Given the description of an element on the screen output the (x, y) to click on. 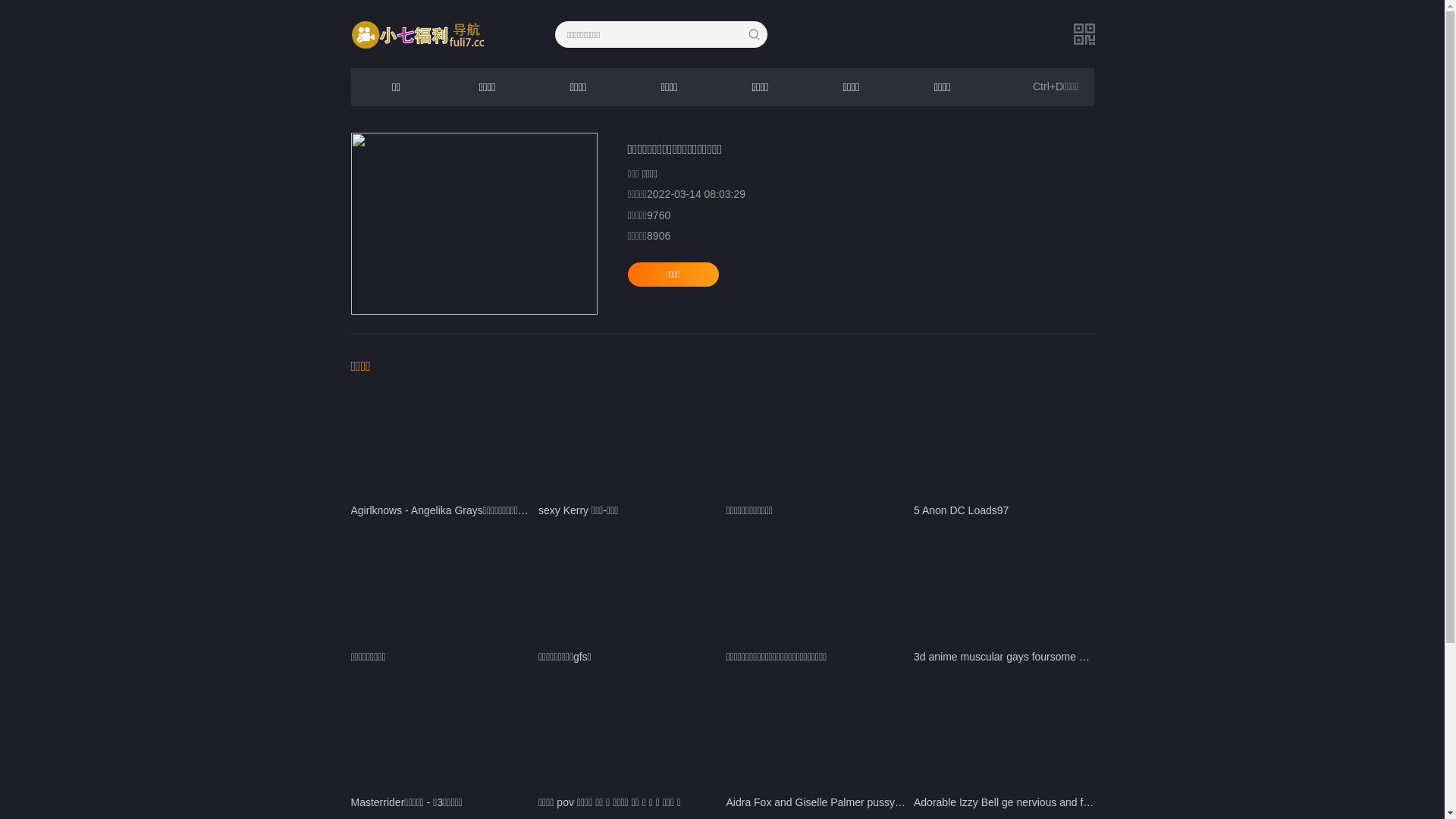
Aidra Fox and Giselle Palmer pussy licking in 69 on bed71 Element type: hover (816, 732)
5 Anon DC Loads97 Element type: hover (1003, 440)
3d anime muscular gays foursome handjob86 Element type: text (1020, 656)
5 Anon DC Loads97 Element type: text (960, 510)
3d anime muscular gays foursome handjob86 Element type: hover (1003, 586)
Aidra Fox and Giselle Palmer pussy licking in 69 on bed71 Element type: text (863, 802)
